Given the description of an element on the screen output the (x, y) to click on. 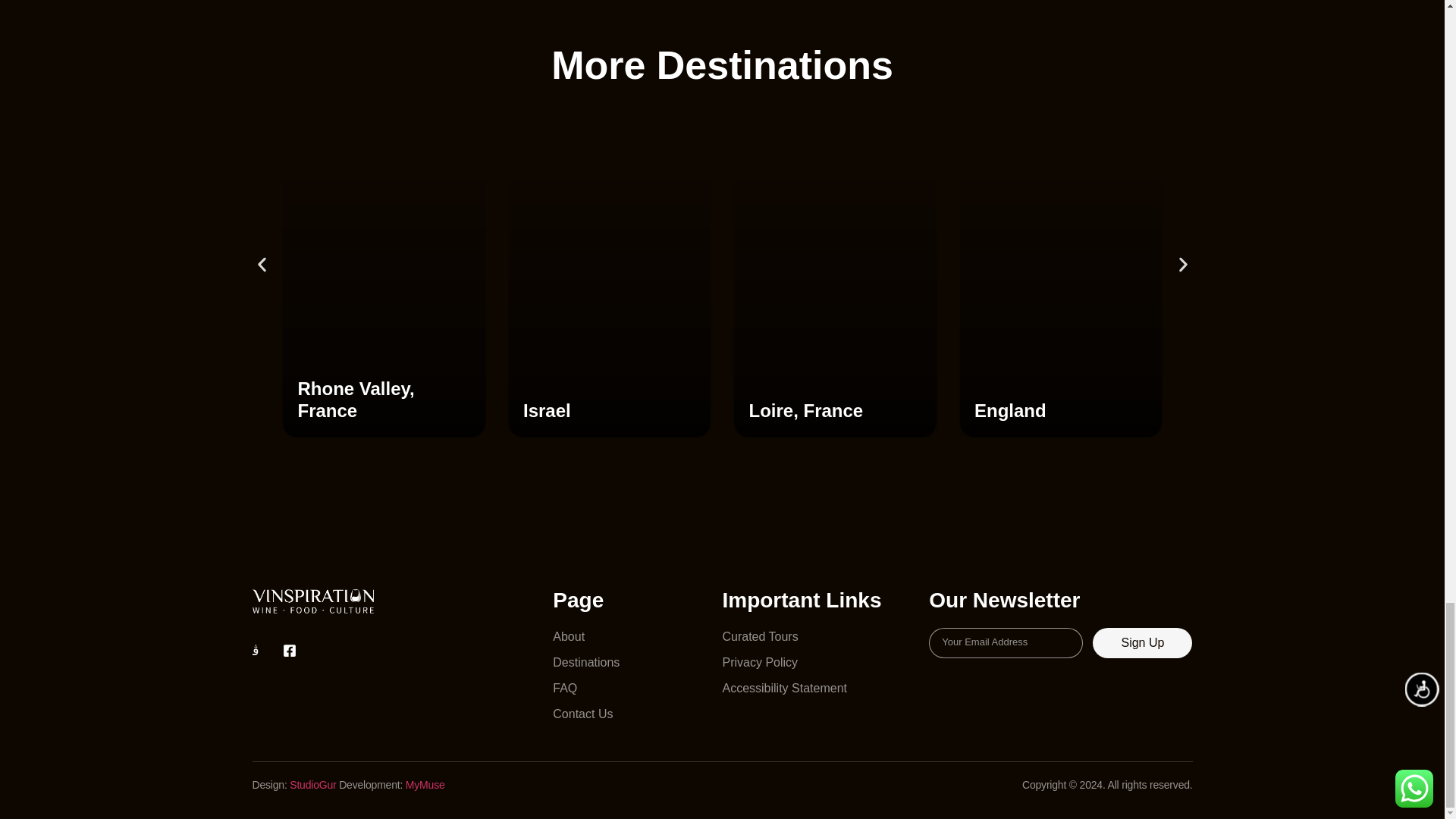
Israel (546, 410)
Rhone Valley, France (355, 399)
Loire, France (806, 410)
